Given the description of an element on the screen output the (x, y) to click on. 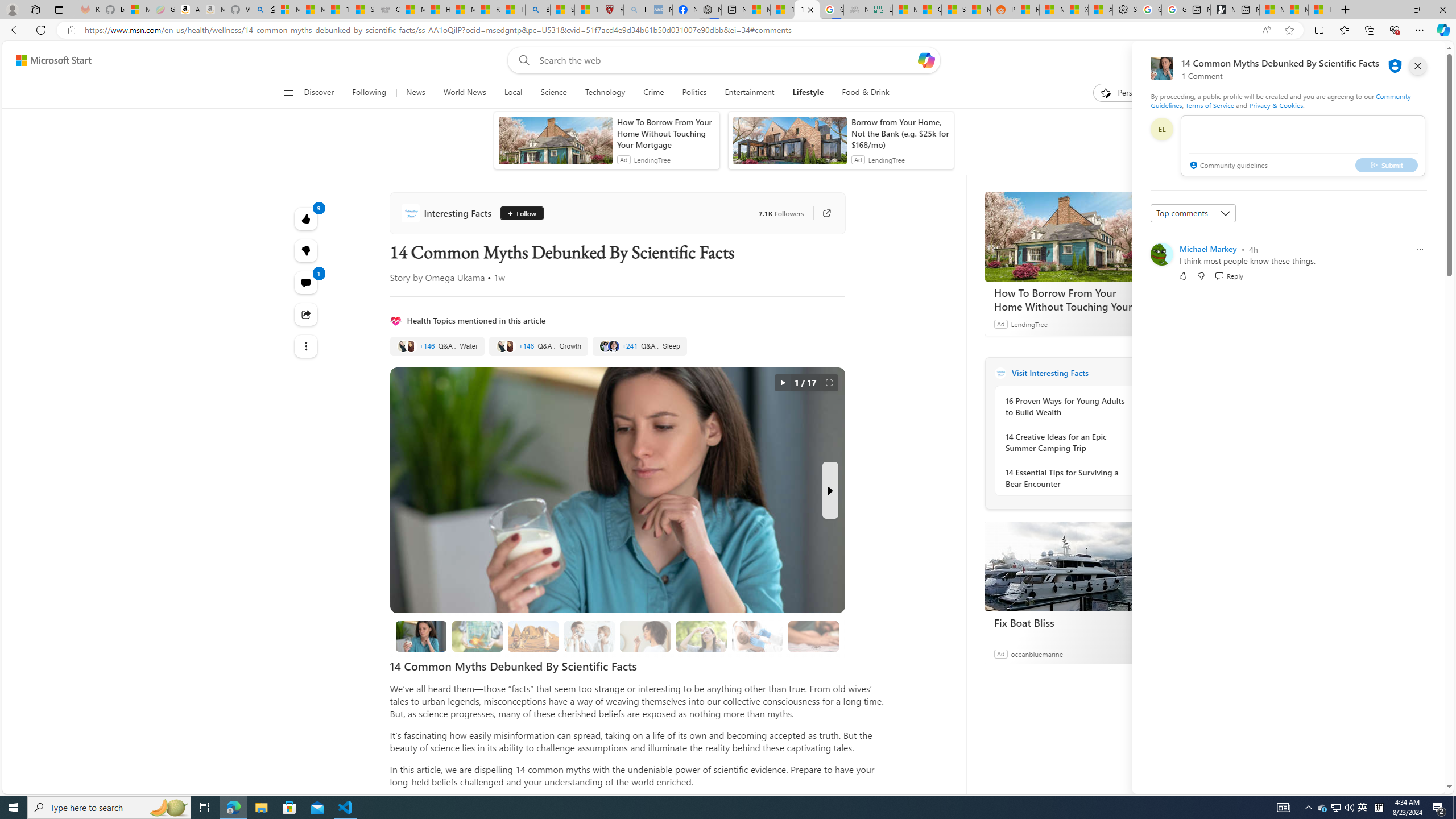
Class: quote-thumbnail (613, 345)
LendingTree (1029, 323)
Combat Siege (386, 9)
Entertainment (749, 92)
16 Proven Ways for Young Adults to Build Wealth (1066, 406)
anim-content (789, 144)
